Given the description of an element on the screen output the (x, y) to click on. 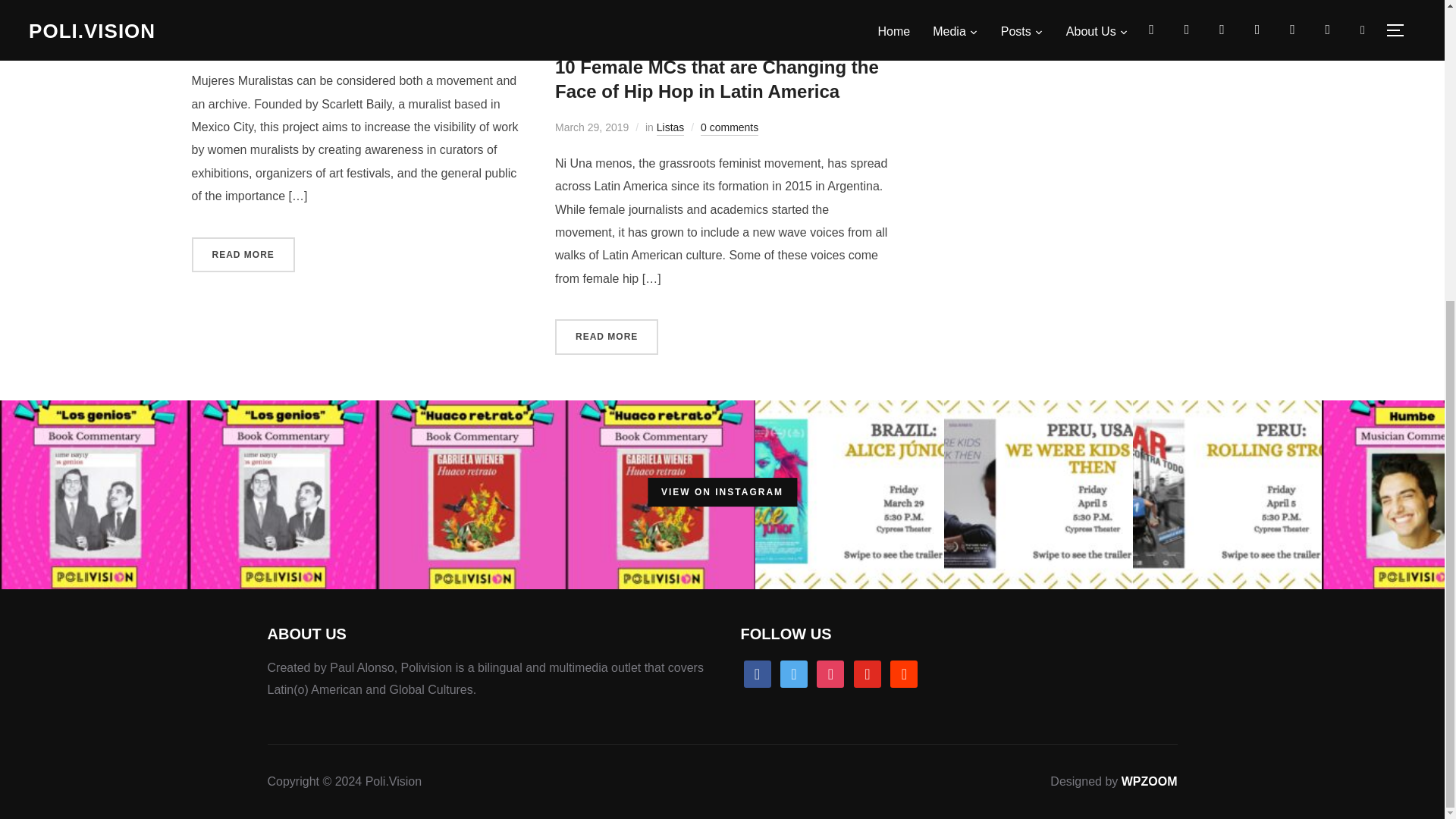
Listas (315, 45)
READ MORE (242, 254)
10 Mexican Women Muralists to Watch Out For (357, 9)
